Given the description of an element on the screen output the (x, y) to click on. 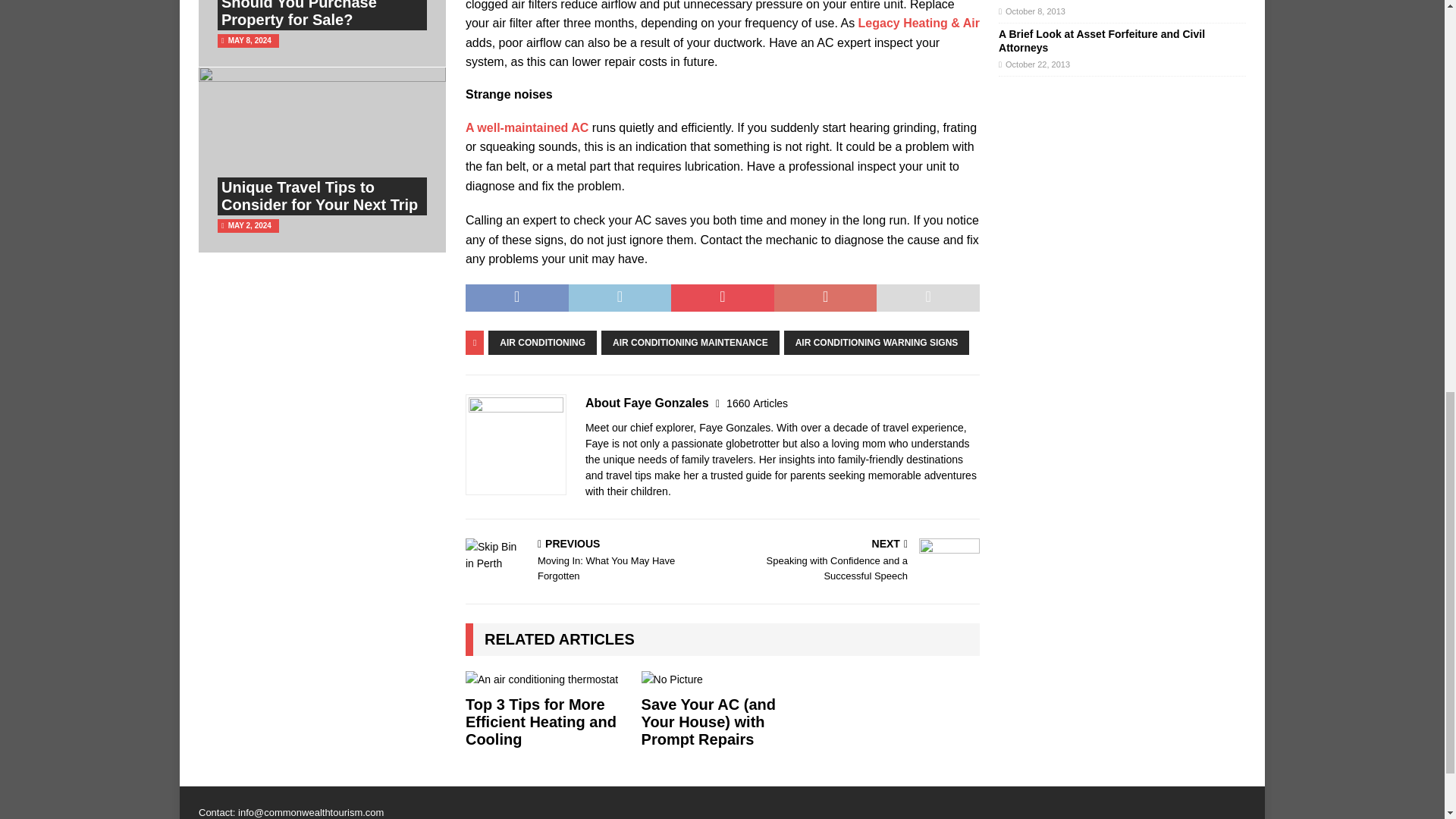
AIR CONDITIONING (541, 342)
A well-maintained AC (528, 127)
AIR CONDITIONING MAINTENANCE (689, 342)
AIR CONDITIONING WARNING SIGNS (876, 342)
